Given the description of an element on the screen output the (x, y) to click on. 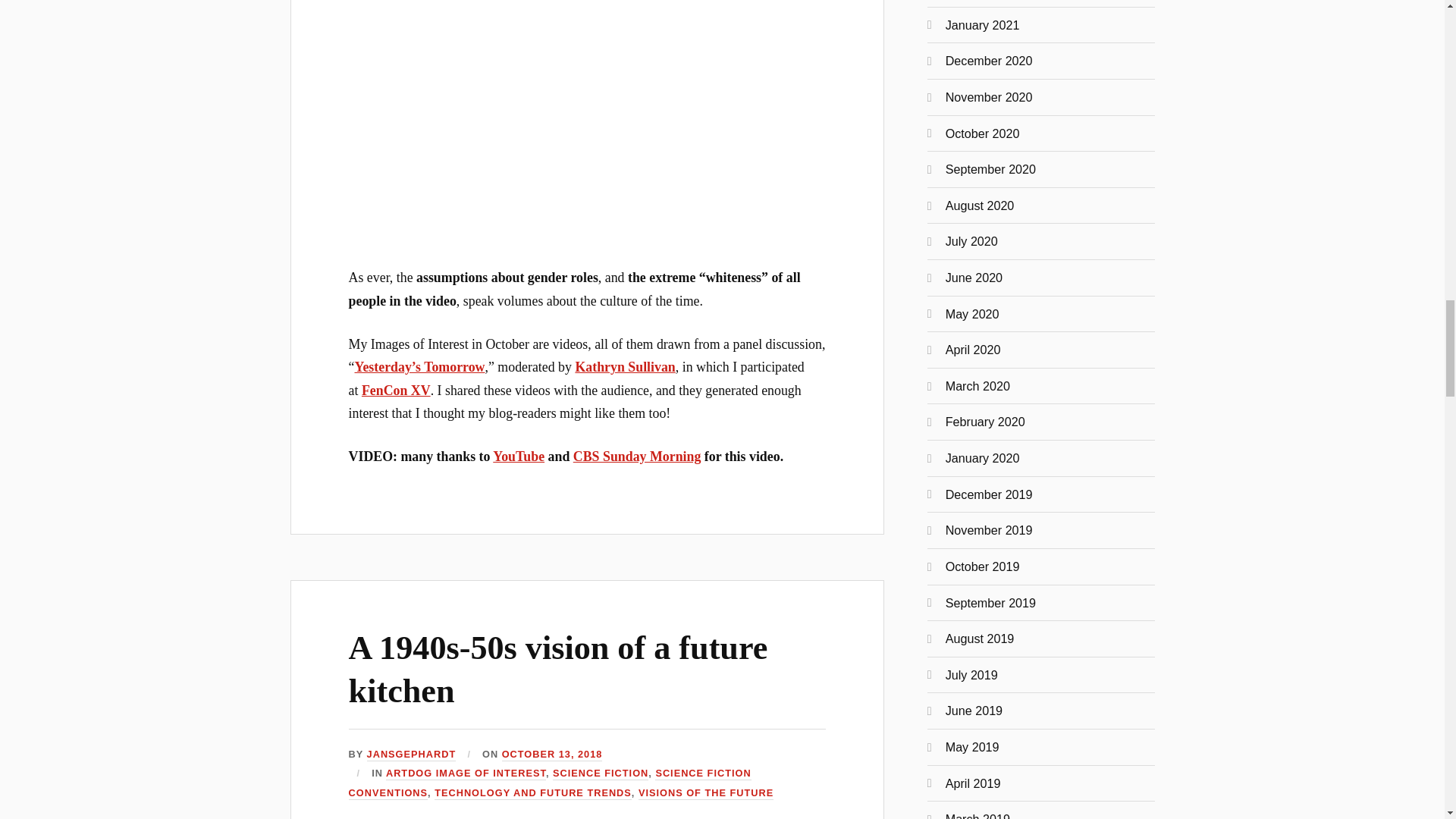
Posts by jansgephardt (411, 754)
